Given the description of an element on the screen output the (x, y) to click on. 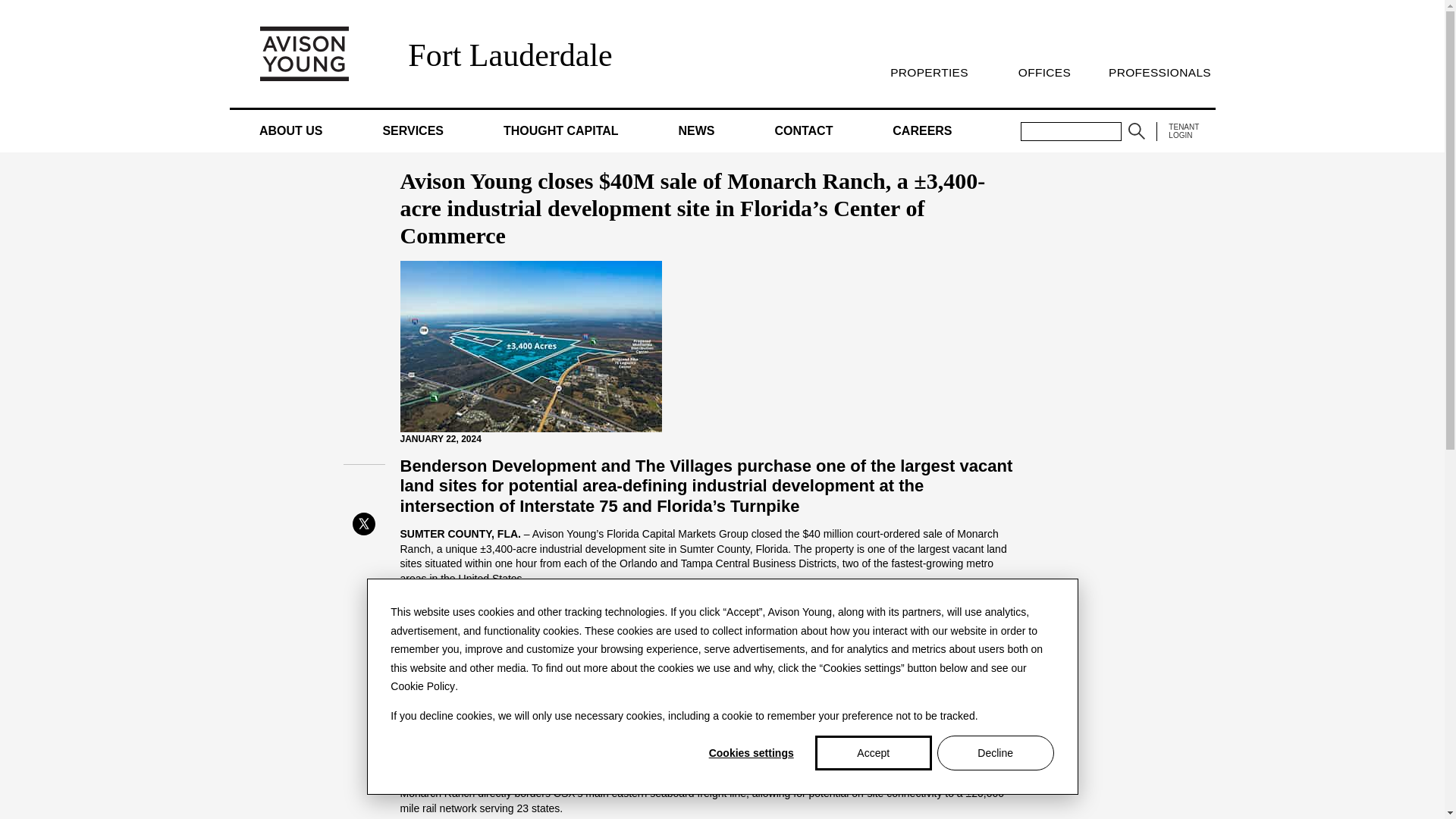
OFFICES (1043, 72)
Skip to Main Content (5, 5)
Fort Lauderdale (509, 54)
PROPERTIES (928, 72)
